Given the description of an element on the screen output the (x, y) to click on. 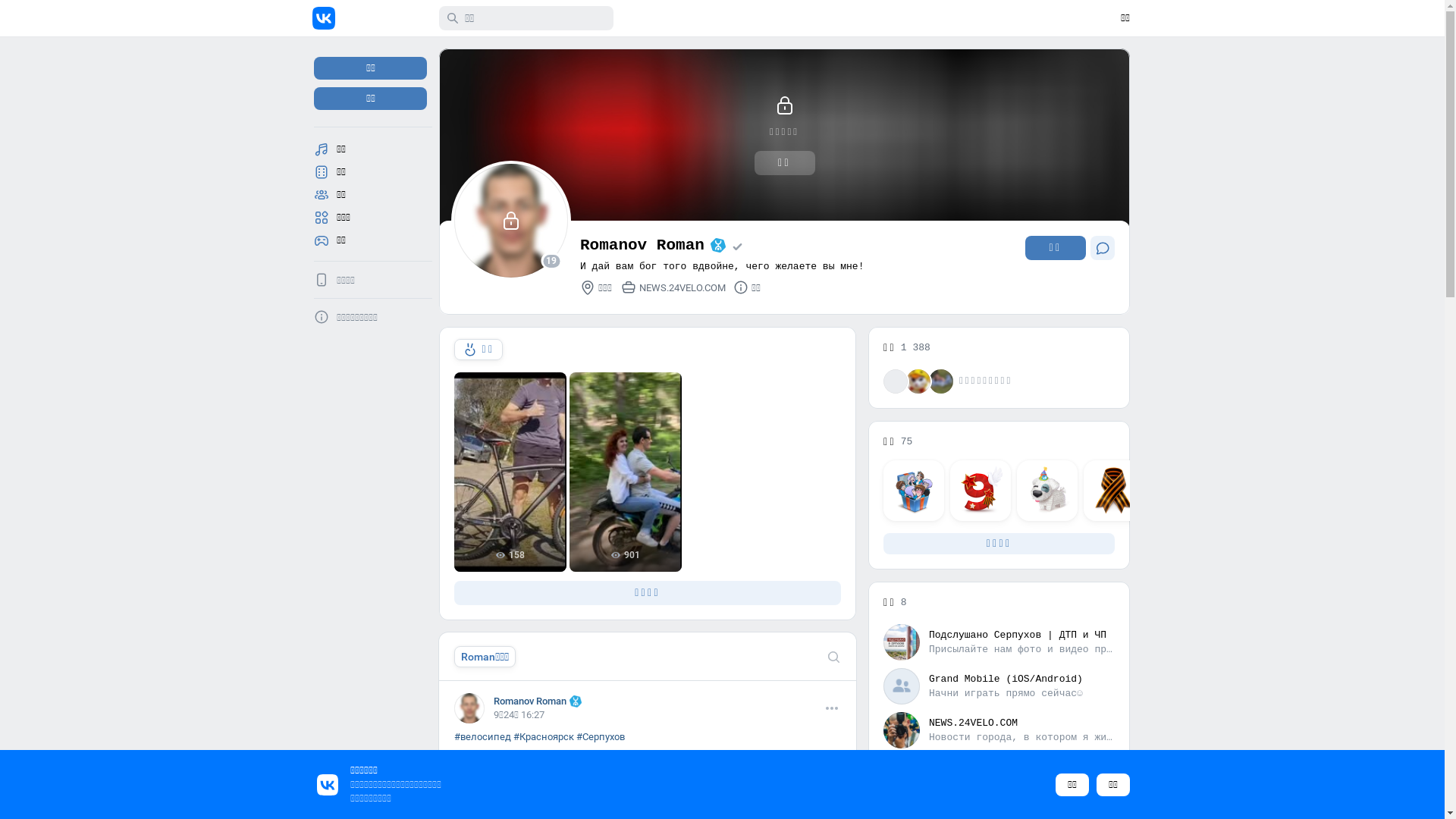
NEWS.24VELO.COM Element type: text (673, 286)
Romanov Roman Element type: text (537, 701)
901 Element type: text (625, 471)
158 Element type: text (510, 471)
